Given the description of an element on the screen output the (x, y) to click on. 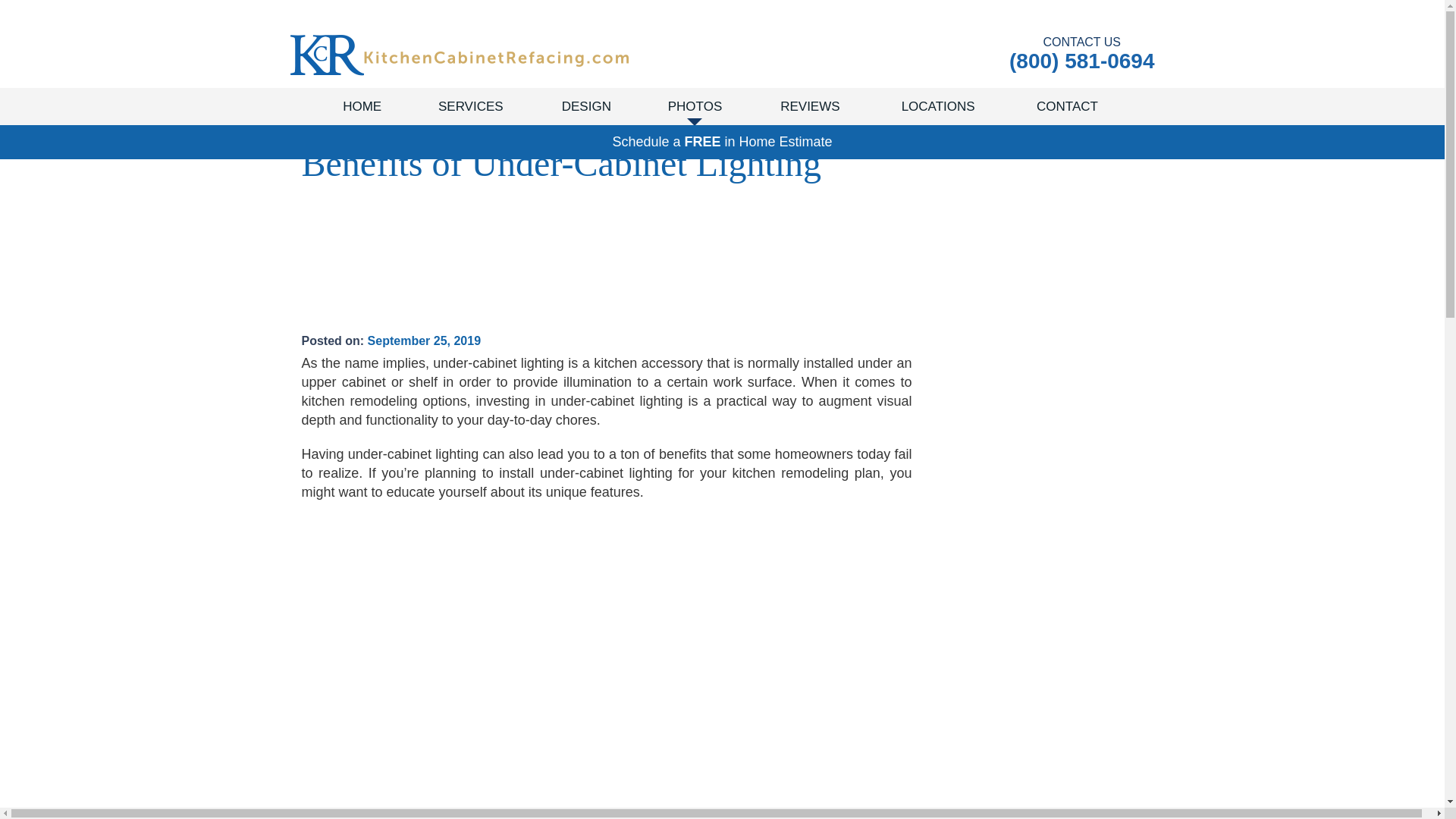
SERVICES (470, 106)
REVIEWS (810, 106)
PHOTOS (695, 106)
September 25, 2019 (424, 340)
CONTACT (1067, 106)
Schedule a FREE in Home Estimate (722, 141)
HOME (362, 106)
DESIGN (586, 106)
LOCATIONS (938, 106)
